Given the description of an element on the screen output the (x, y) to click on. 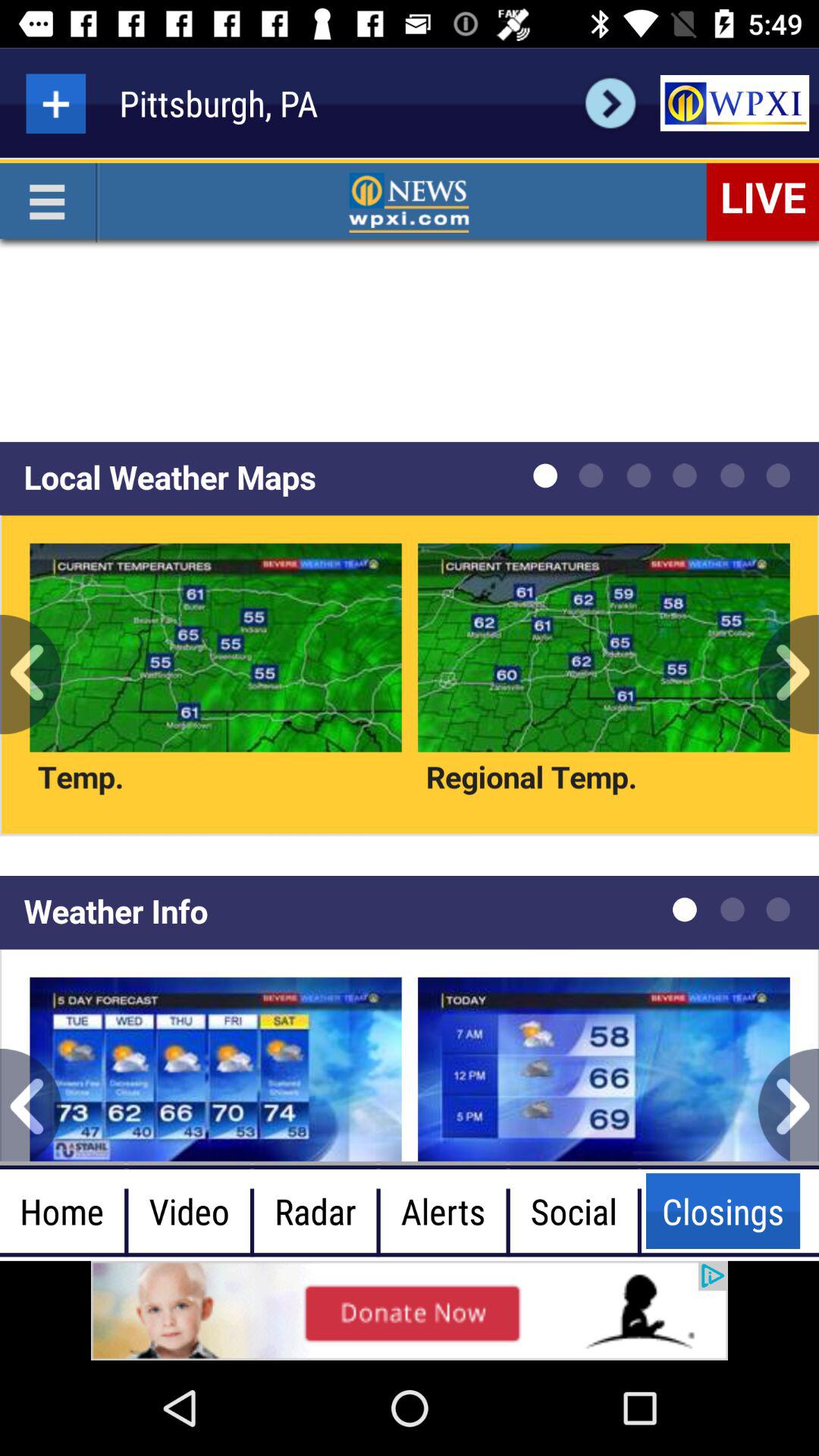
go to advertisement (409, 1310)
